Given the description of an element on the screen output the (x, y) to click on. 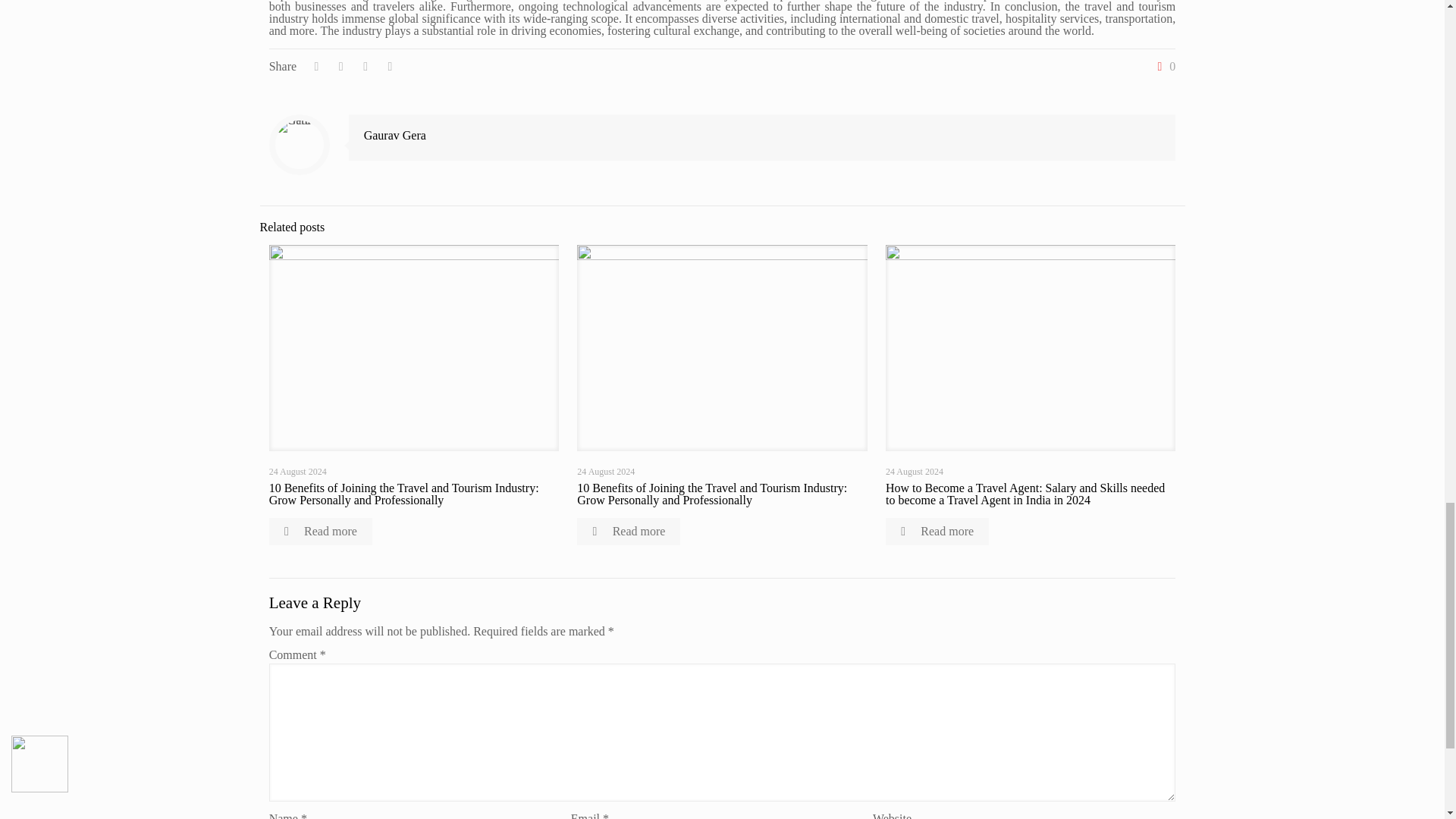
Gaurav Gera (395, 134)
Read more (320, 531)
0 (1162, 66)
